Given the description of an element on the screen output the (x, y) to click on. 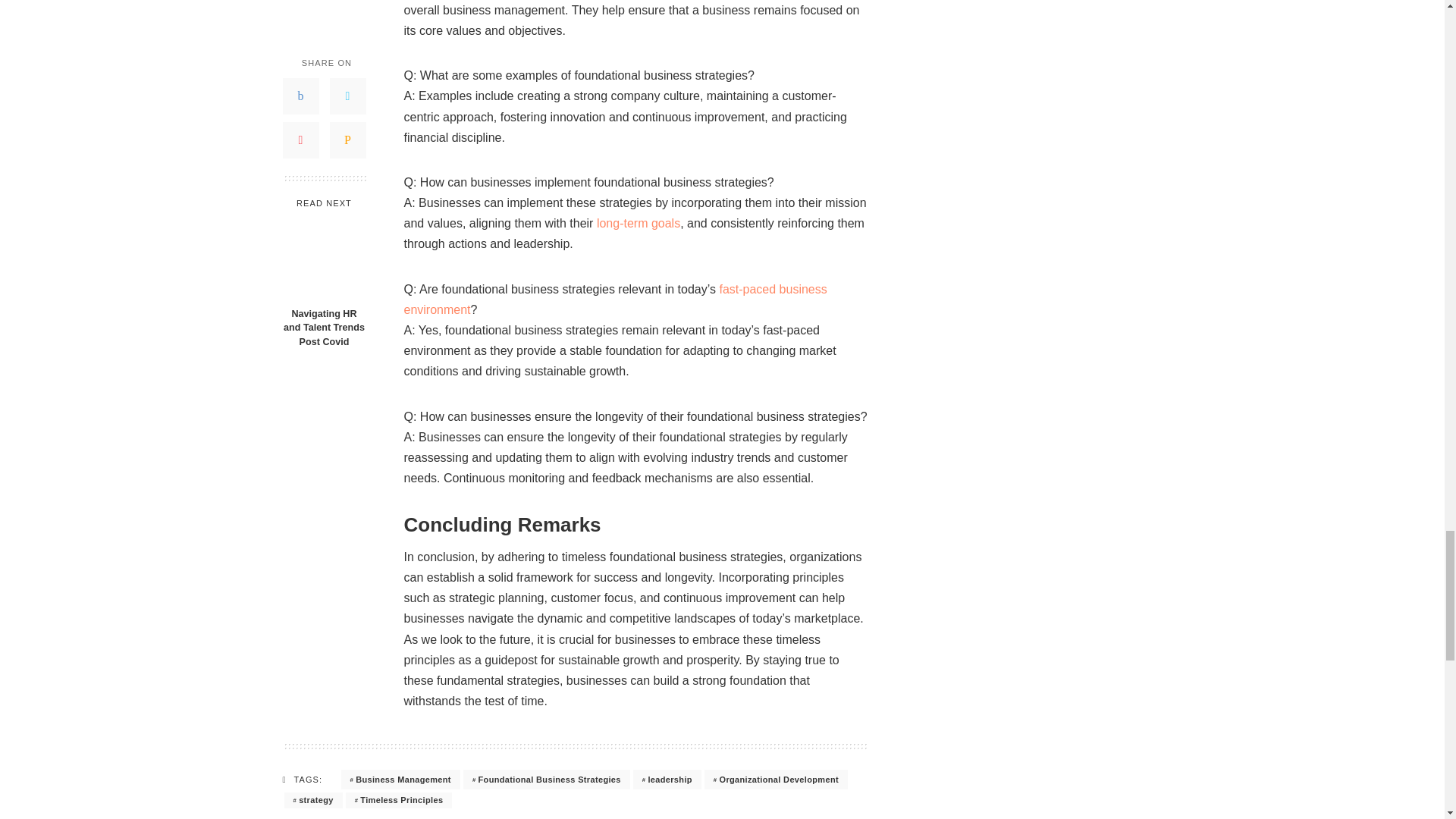
strategy (312, 800)
Timeless Principles (399, 800)
leadership (667, 779)
Foundational Business Strategies (546, 779)
Organizational Development (775, 779)
leadership (667, 779)
long-term goals (637, 223)
fast-paced business environment (615, 299)
Business Management (400, 779)
Foundational Business Strategies (546, 779)
Business Management (400, 779)
